Given the description of an element on the screen output the (x, y) to click on. 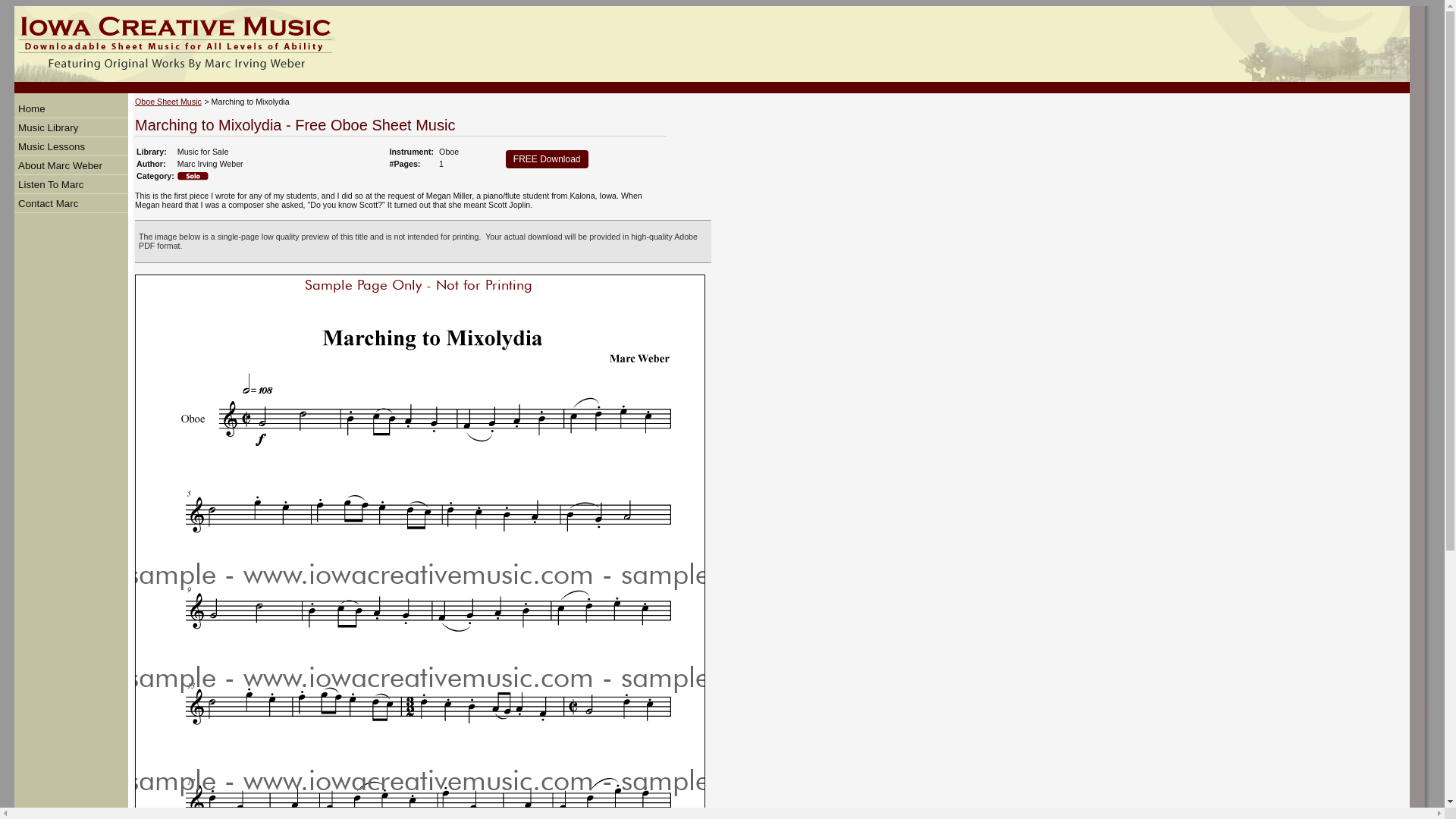
Music Lessons (50, 146)
Listen To Marc (49, 184)
FREE Download (546, 158)
Contact Marc (47, 202)
Music Library (47, 126)
Oboe Sheet Music (168, 101)
Home (31, 108)
About Marc Weber (59, 164)
